Given the description of an element on the screen output the (x, y) to click on. 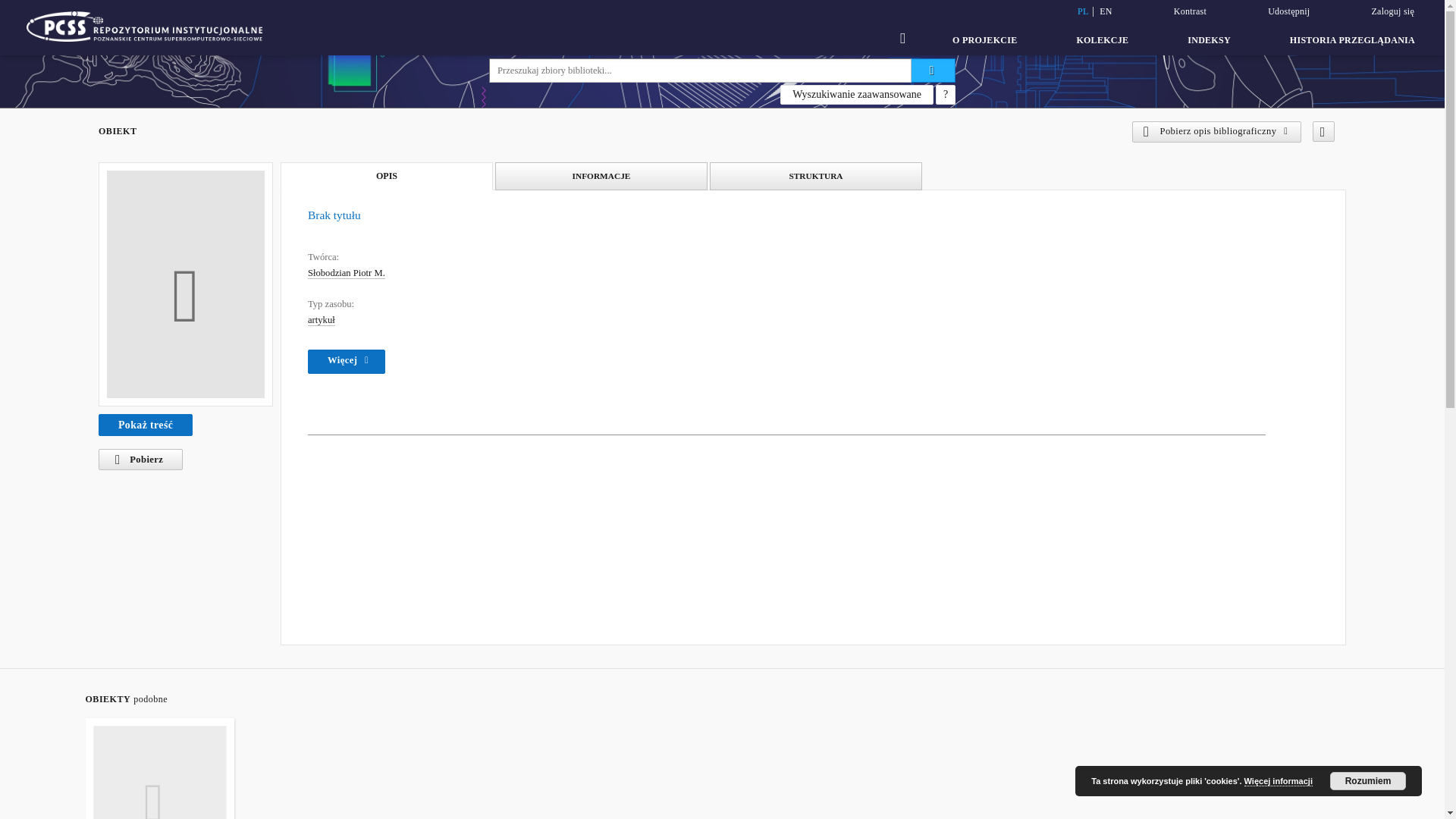
Kontrast (1189, 11)
KOLEKCJE (1101, 39)
English (1106, 11)
Repozytorium PCSS (144, 26)
PL (1083, 11)
EN (1106, 11)
polski (1083, 11)
O PROJEKCIE (984, 39)
